Given the description of an element on the screen output the (x, y) to click on. 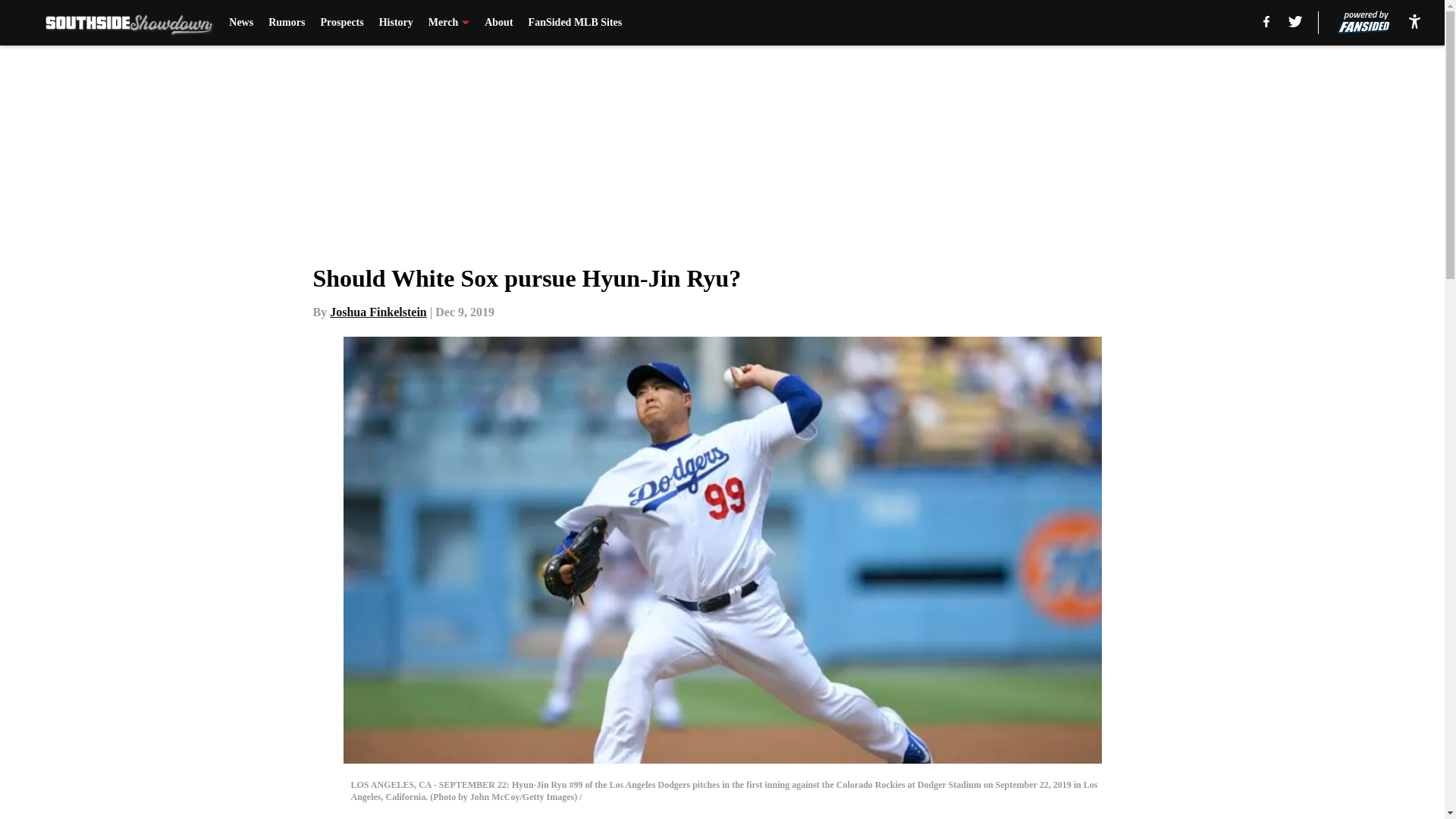
Joshua Finkelstein (378, 311)
History (395, 22)
Prospects (341, 22)
Rumors (285, 22)
News (240, 22)
FanSided MLB Sites (575, 22)
About (498, 22)
